Given the description of an element on the screen output the (x, y) to click on. 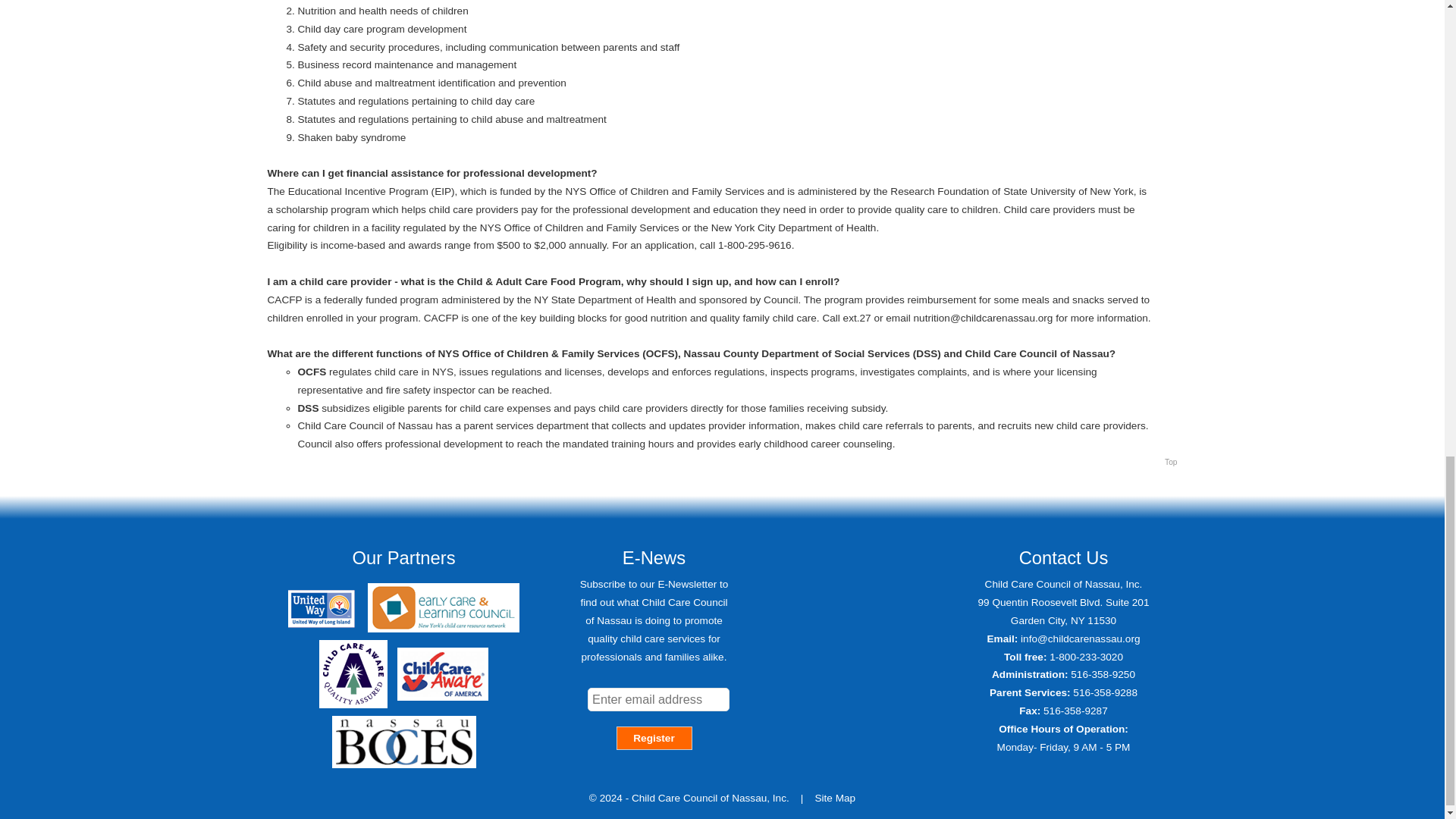
go to top of the page (1170, 462)
